Given the description of an element on the screen output the (x, y) to click on. 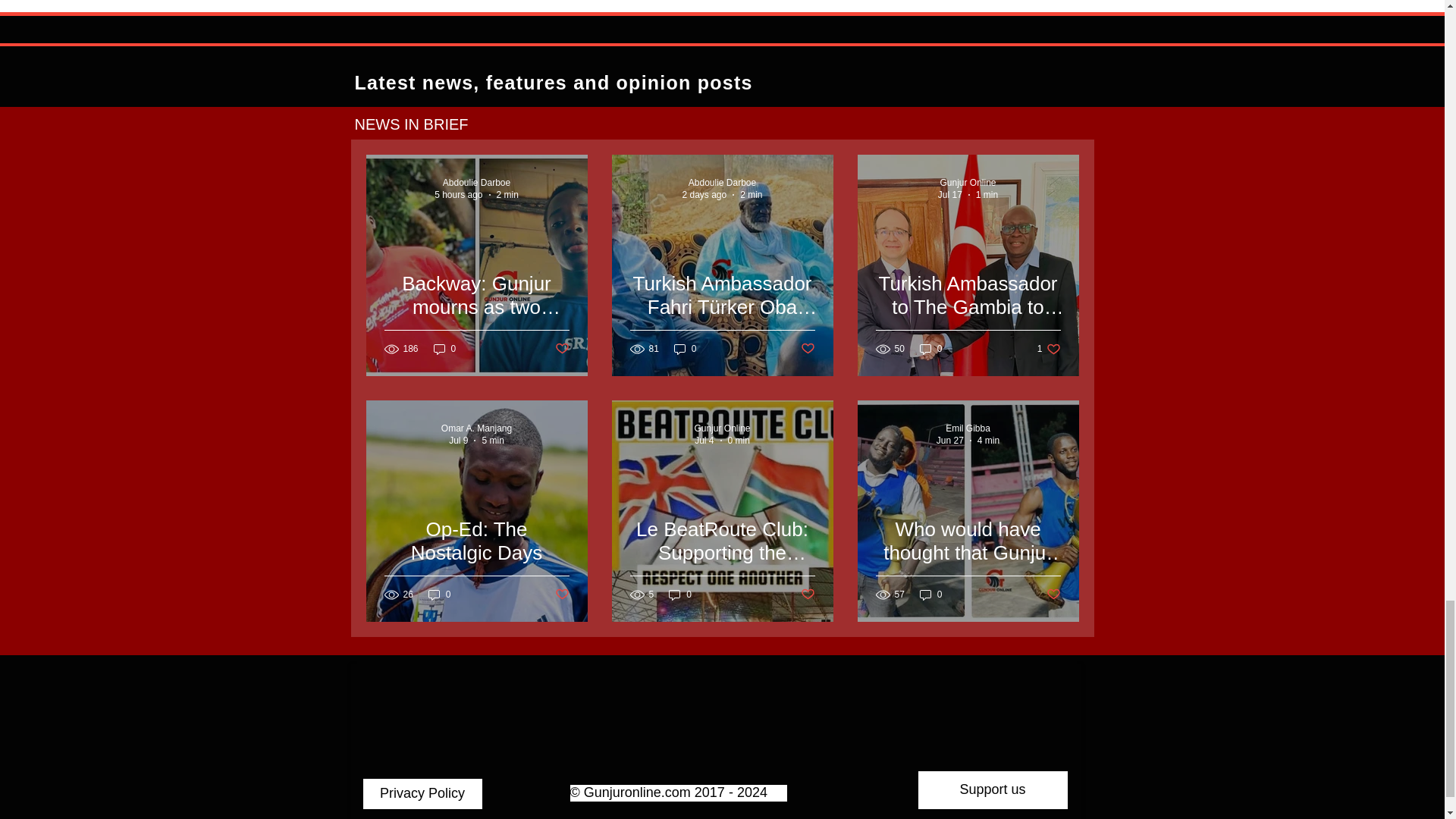
2 min (750, 194)
Gunjur Online (721, 428)
2 days ago (703, 194)
1 min (986, 194)
Jul 9 (457, 439)
5 min (492, 439)
Omar A. Manjang (476, 428)
2 min (507, 194)
0 min (738, 439)
Jul 4 (703, 439)
5 hours ago (457, 194)
Abdoulie Darboe (476, 182)
Gunjur Online (967, 182)
Abdoulie Darboe (721, 182)
Jul 17 (949, 194)
